Given the description of an element on the screen output the (x, y) to click on. 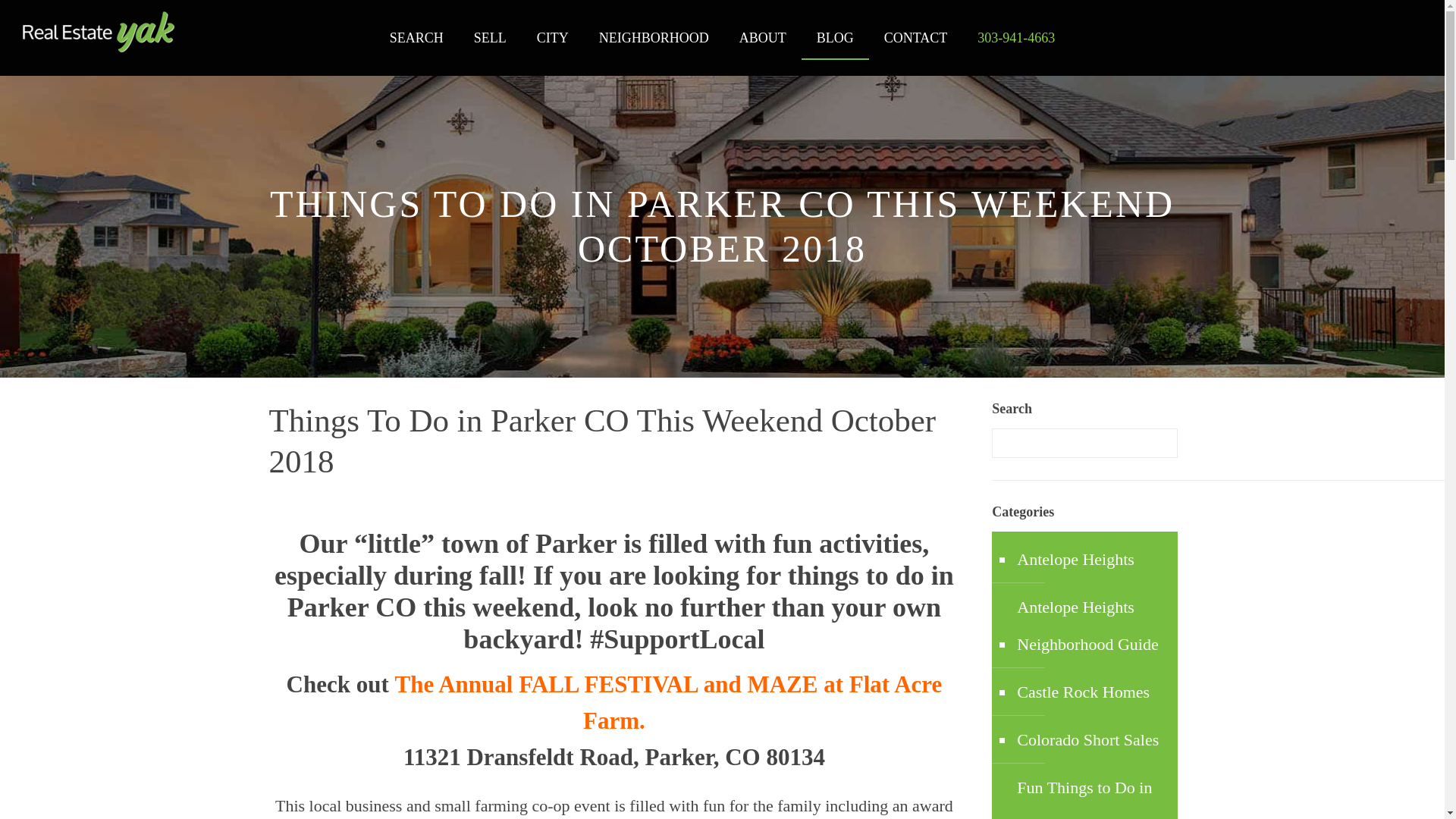
NEIGHBORHOOD (653, 37)
CITY (552, 37)
SEARCH (416, 37)
Discover luxury living in Parker, Colorado (98, 32)
CONTACT (915, 37)
ABOUT (762, 37)
facebook (1356, 46)
BLOG (835, 37)
SELL (489, 37)
linkedin (1386, 46)
